Given the description of an element on the screen output the (x, y) to click on. 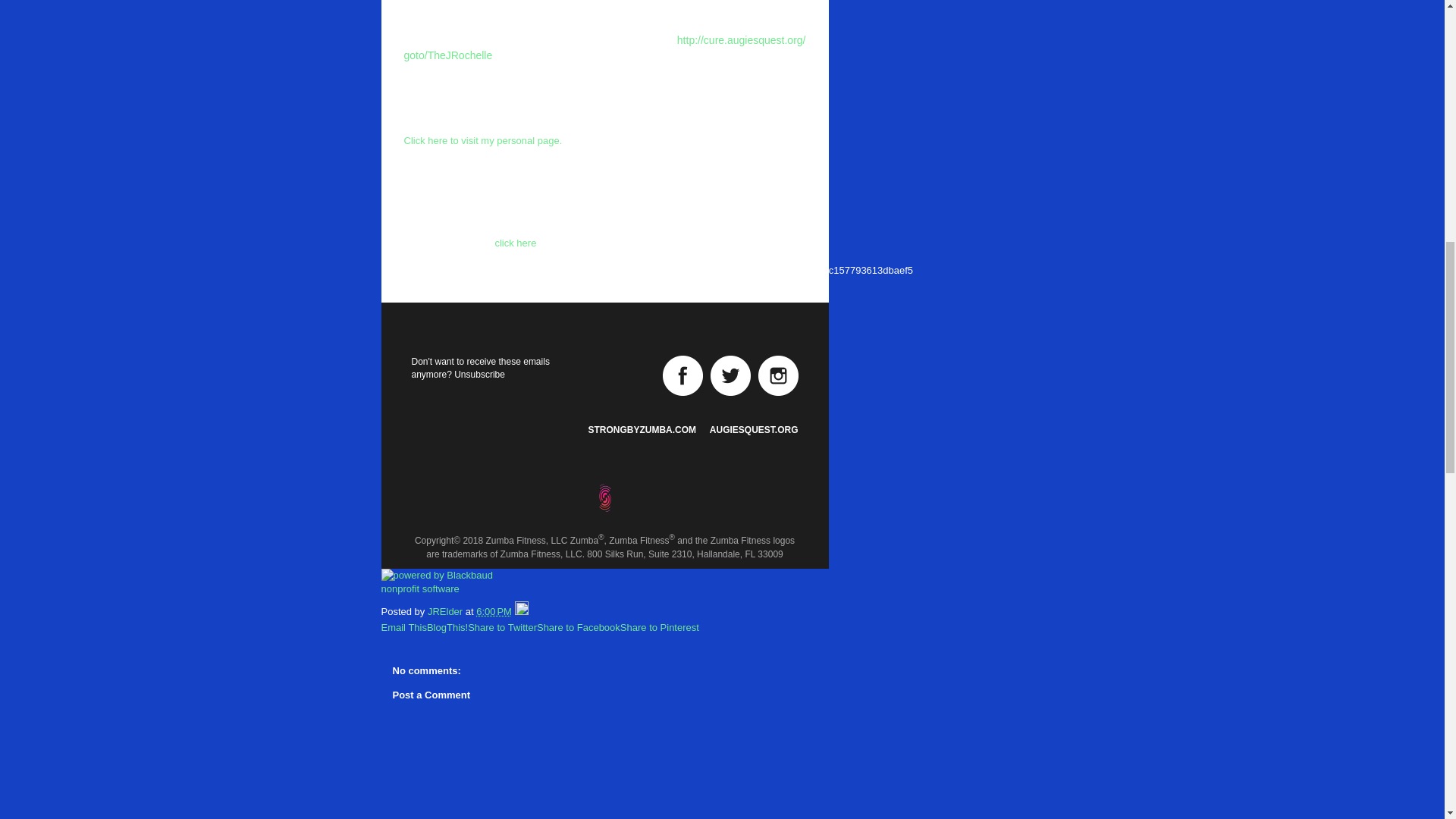
nonprofit software (419, 588)
author profile (446, 611)
JRElder (446, 611)
permanent link (494, 611)
Email This (403, 627)
Click here to visit my personal page. (482, 140)
click here (515, 242)
Nonprofit Fundraising Software (419, 588)
Share to Facebook (578, 627)
STRONGBYZUMBA.COM (641, 429)
AUGIESQUEST.ORG (753, 429)
Share to Facebook (578, 627)
Share to Twitter (502, 627)
Email This (403, 627)
